Given the description of an element on the screen output the (x, y) to click on. 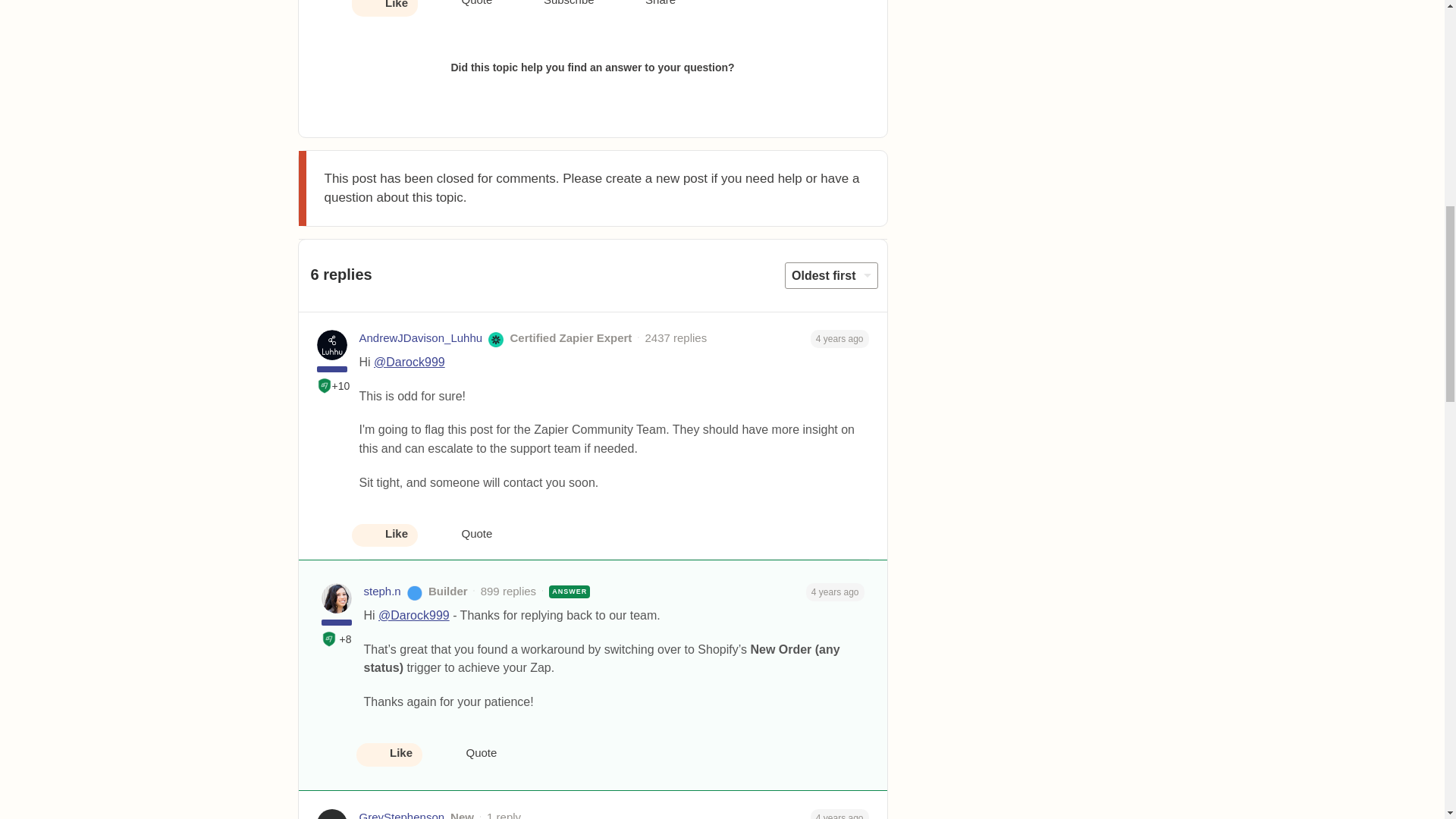
Helpful (328, 639)
GreyStephenson (402, 814)
steph.n (382, 591)
Helpful (324, 385)
